Given the description of an element on the screen output the (x, y) to click on. 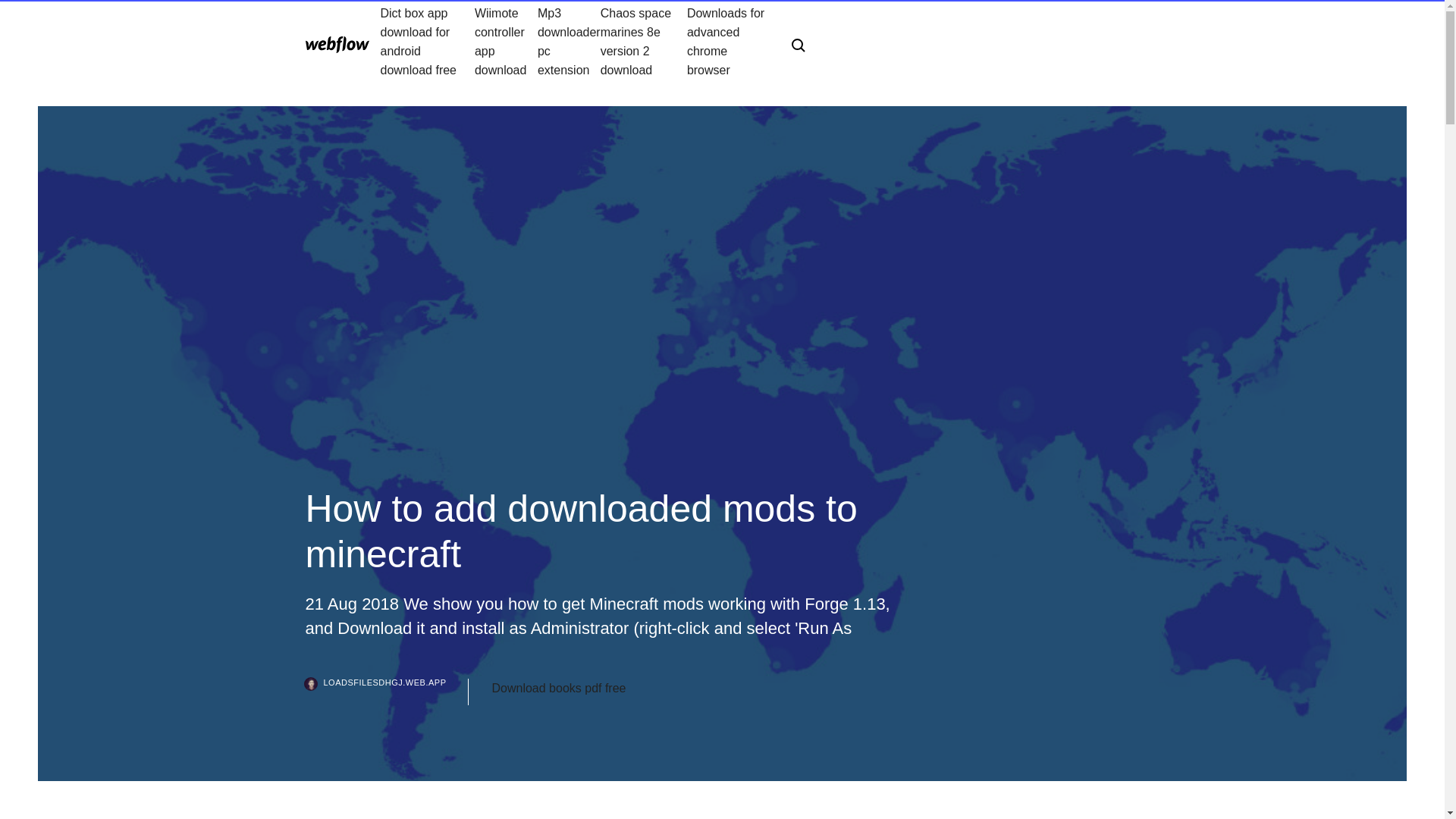
LOADSFILESDHGJ.WEB.APP (386, 691)
Downloads for advanced chrome browser (727, 41)
Chaos space marines 8e version 2 download (643, 41)
Dict box app download for android download free (427, 41)
Download books pdf free (559, 687)
